Given the description of an element on the screen output the (x, y) to click on. 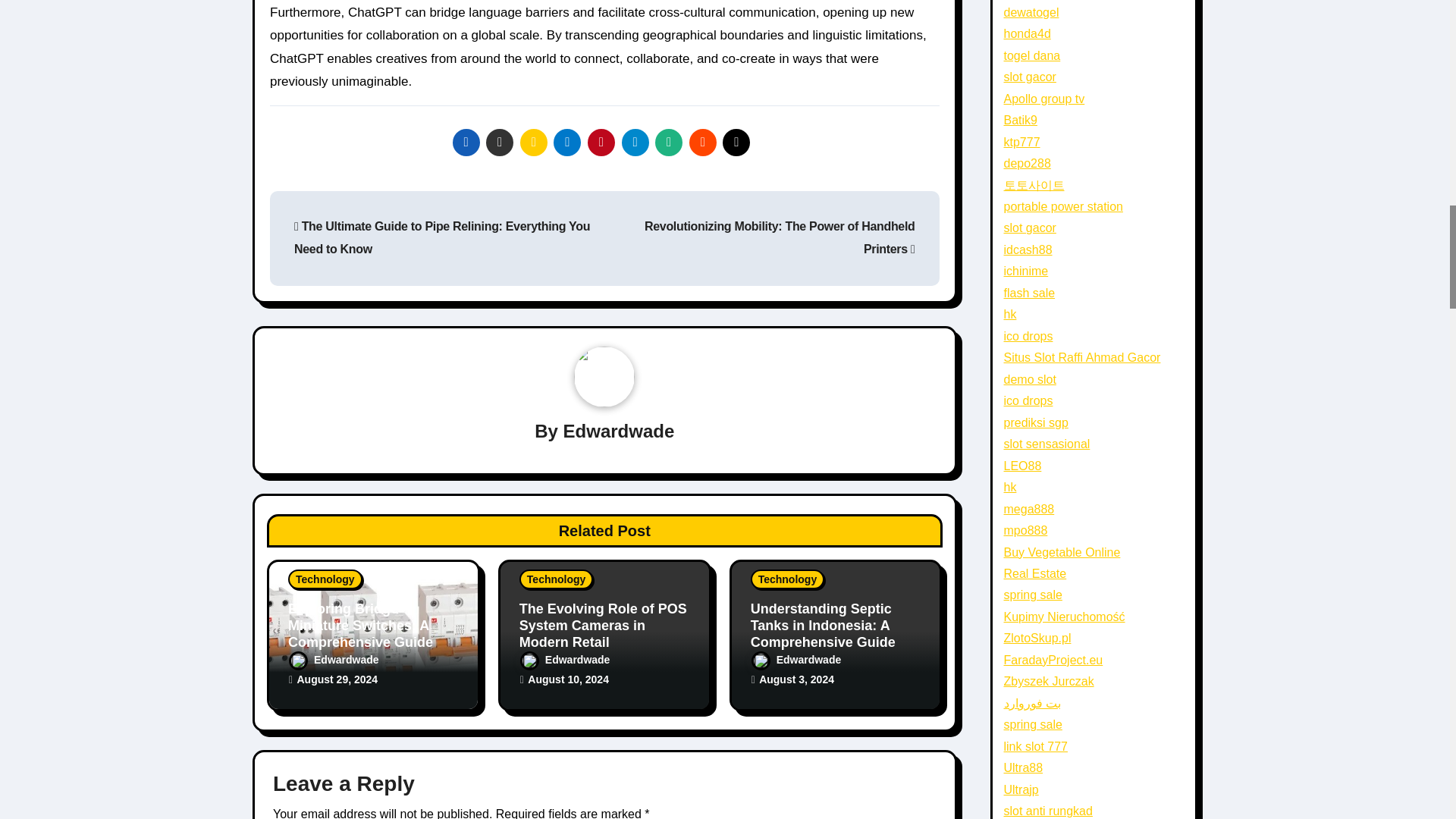
August 29, 2024 (337, 679)
Revolutionizing Mobility: The Power of Handheld Printers (780, 237)
Technology (325, 578)
Exploring Bridge Miniature Switches: A Comprehensive Guide (360, 625)
Edwardwade (333, 659)
Edwardwade (619, 430)
